Given the description of an element on the screen output the (x, y) to click on. 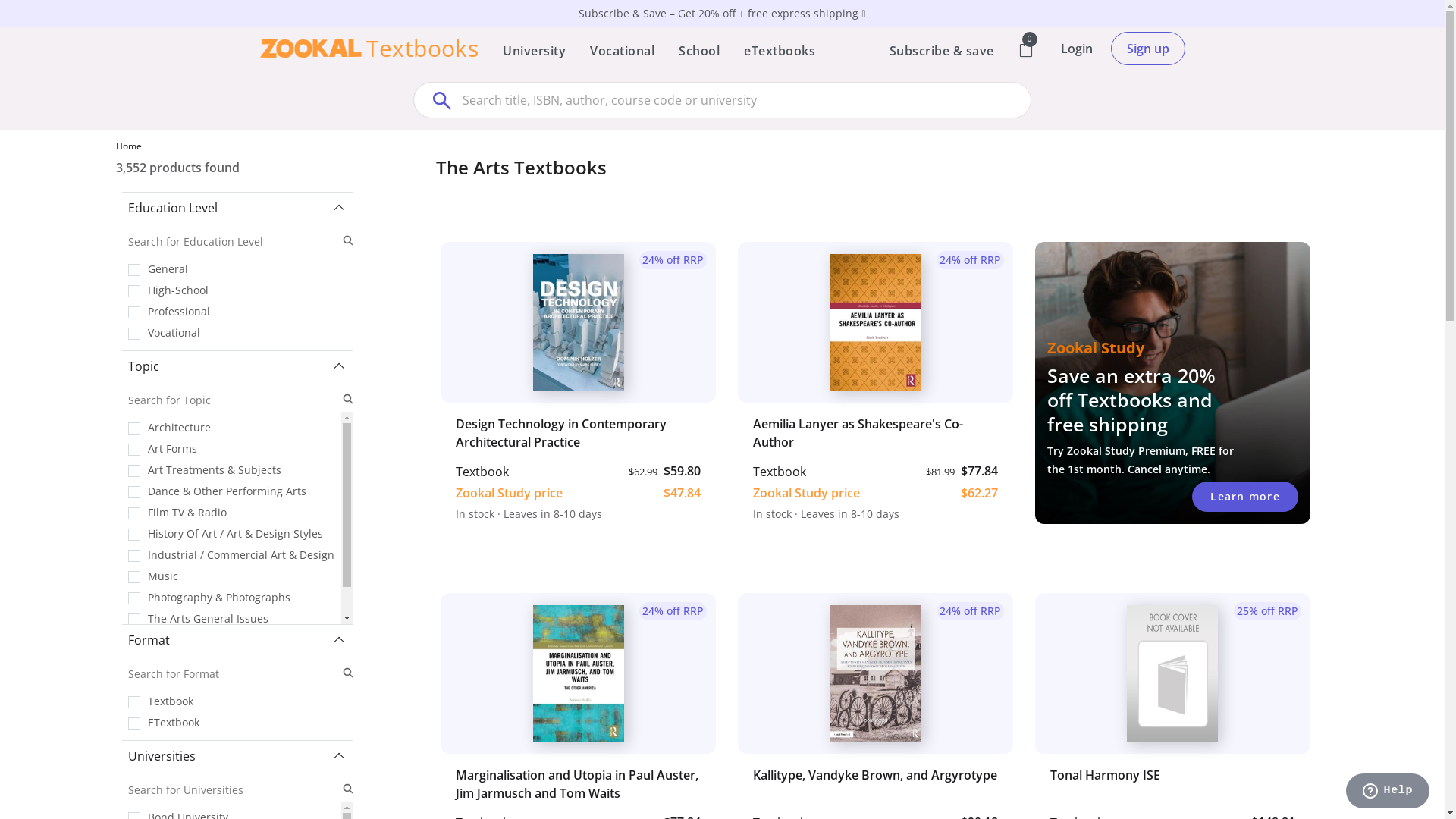
University Element type: text (533, 50)
Submit the search query. Element type: hover (346, 673)
Tonal Harmony ISE Element type: text (1172, 783)
Home Element type: text (128, 145)
Login Element type: text (1075, 47)
24% off RRP Element type: text (875, 673)
Opens a widget where you can chat to one of our agents Element type: hover (1387, 792)
Submit the search query. Element type: hover (346, 241)
25% off RRP Element type: text (1172, 673)
24% off RRP Element type: text (577, 321)
0 Element type: text (1024, 50)
Textbooks Element type: text (368, 48)
24% off RRP Element type: text (577, 673)
School Element type: text (698, 50)
24% off RRP Element type: text (875, 321)
eTextbooks Element type: text (779, 50)
Subscribe & save Element type: text (940, 50)
Aemilia Lanyer as Shakespeare's Co-Author Element type: text (875, 432)
Sign up Element type: text (1147, 48)
Design Technology in Contemporary Architectural Practice Element type: text (577, 432)
Vocational Element type: text (621, 50)
Kallitype, Vandyke Brown, and Argyrotype Element type: text (875, 783)
Submit the search query. Element type: hover (346, 399)
Submit the search query. Element type: hover (346, 789)
